Given the description of an element on the screen output the (x, y) to click on. 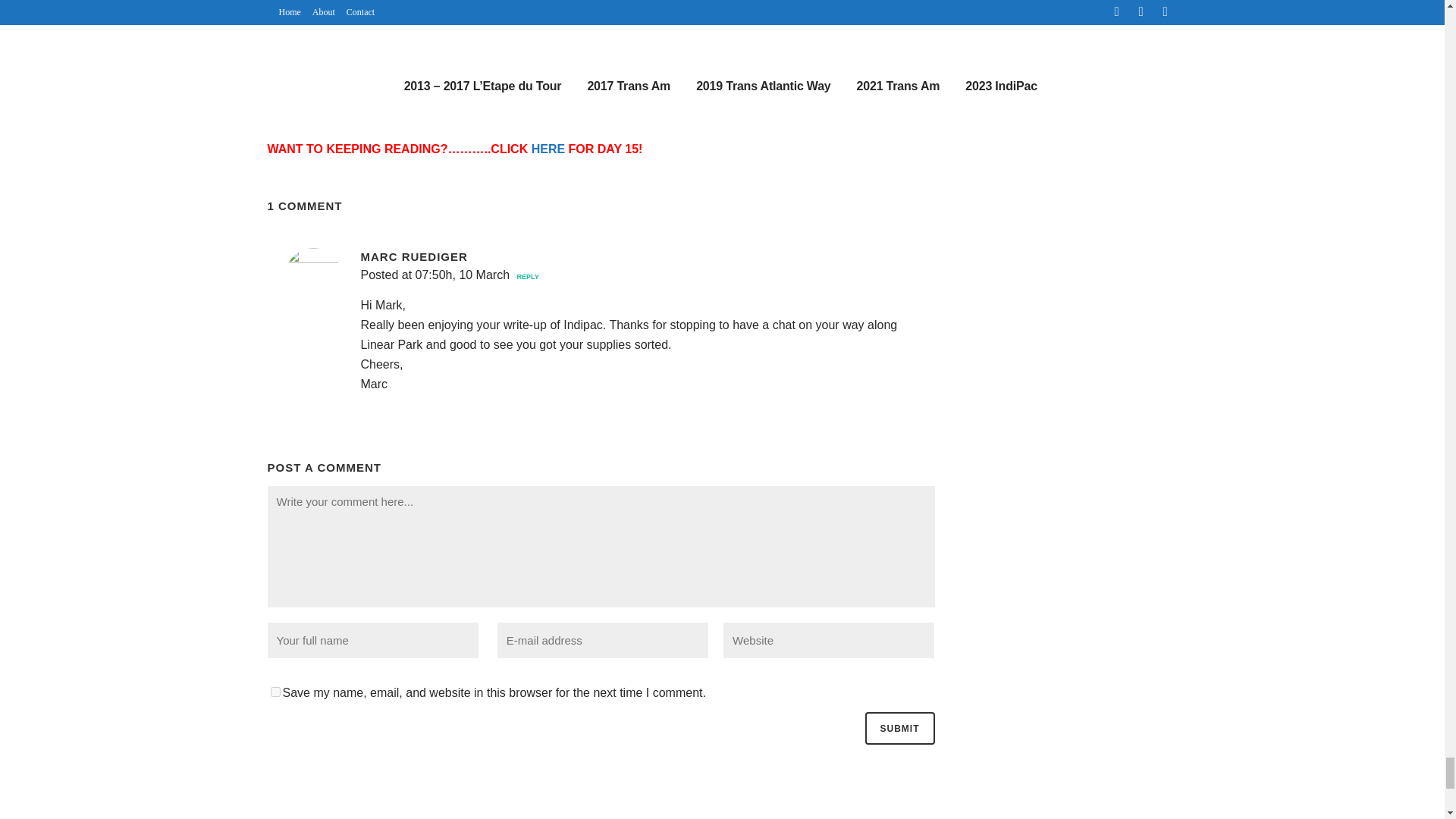
HERE (547, 148)
REPLY (525, 276)
yes (274, 691)
Submit (899, 727)
Submit (899, 727)
